Given the description of an element on the screen output the (x, y) to click on. 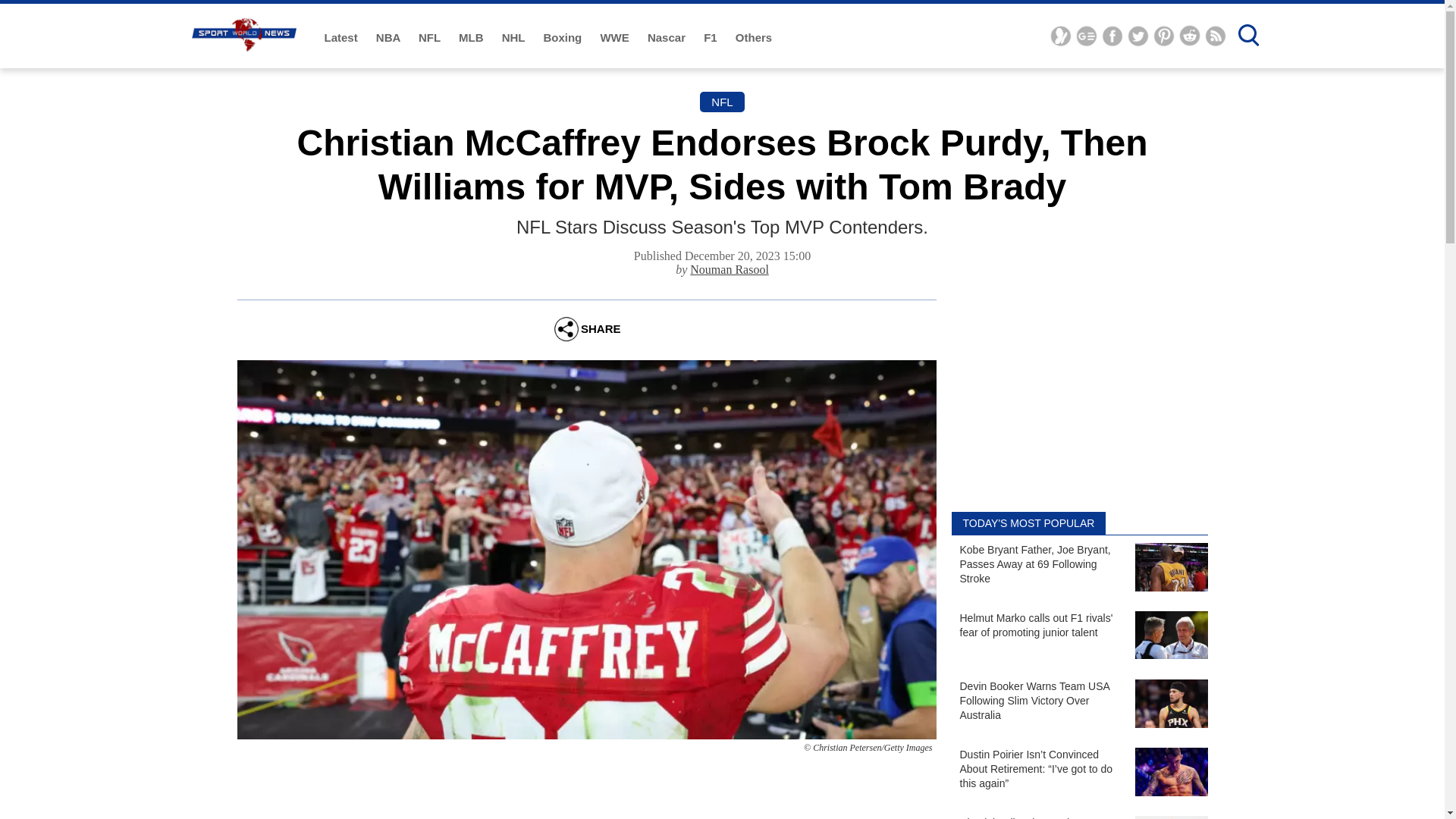
MLB (472, 37)
Nascar (667, 37)
NHL (515, 37)
WWE (615, 37)
NFL (431, 37)
NBA (389, 37)
Others (753, 37)
F1 (711, 37)
Boxing (564, 37)
Latest (342, 37)
